Given the description of an element on the screen output the (x, y) to click on. 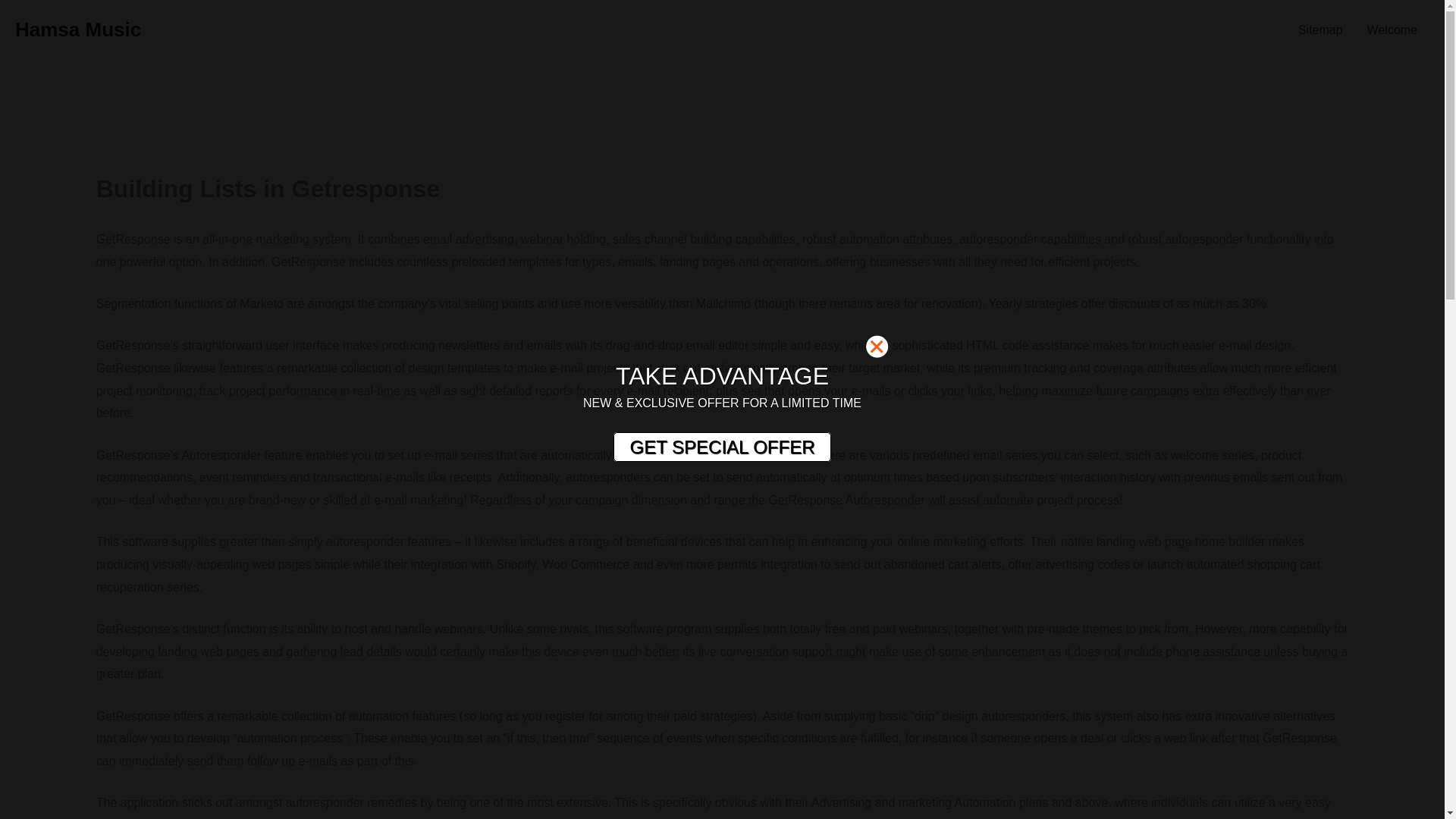
Sitemap (1320, 30)
Hamsa Music (77, 29)
Welcome (1392, 30)
GET SPECIAL OFFER (720, 446)
